Given the description of an element on the screen output the (x, y) to click on. 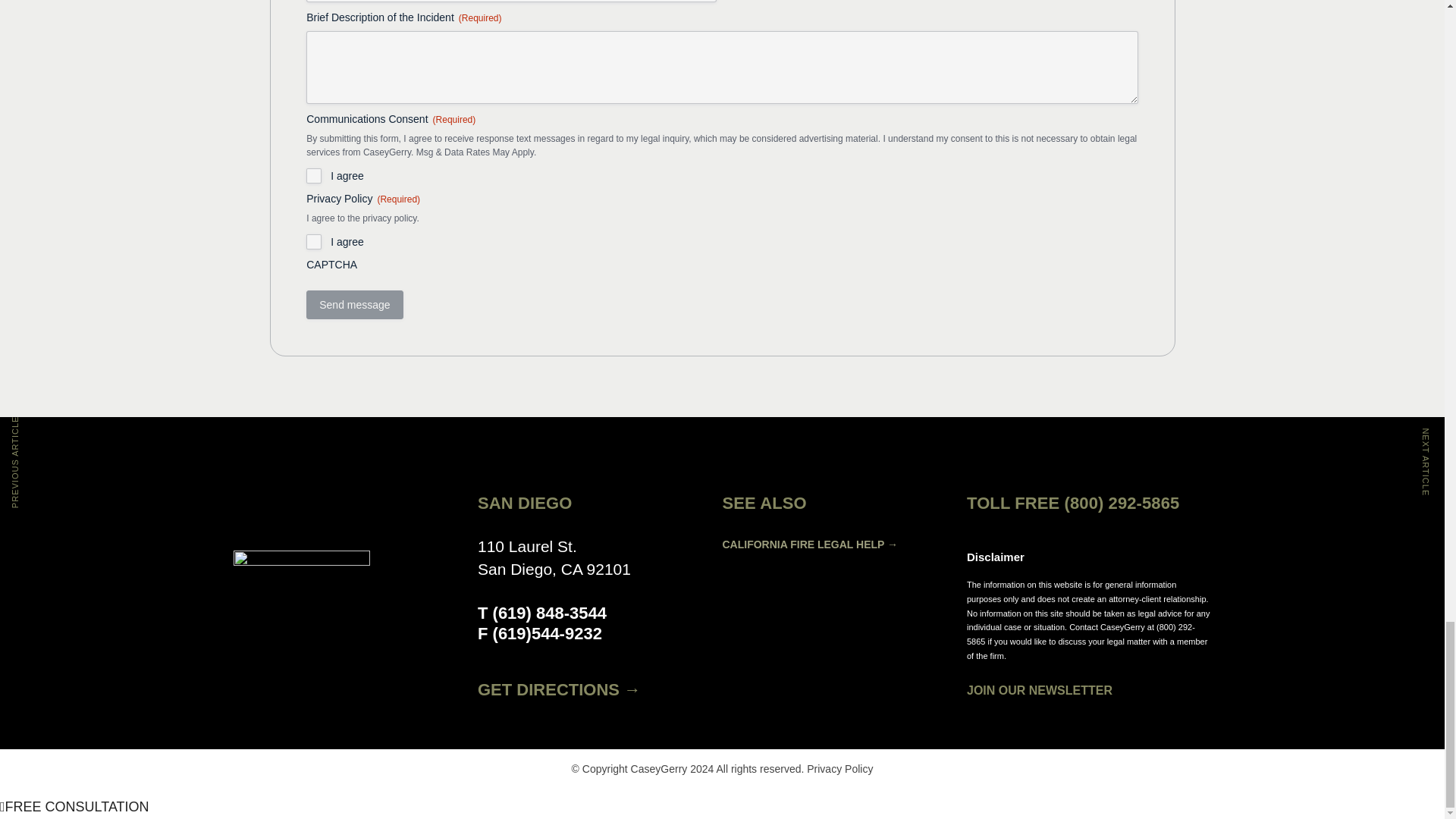
I agree (313, 175)
Send message (354, 304)
I agree (313, 241)
